Given the description of an element on the screen output the (x, y) to click on. 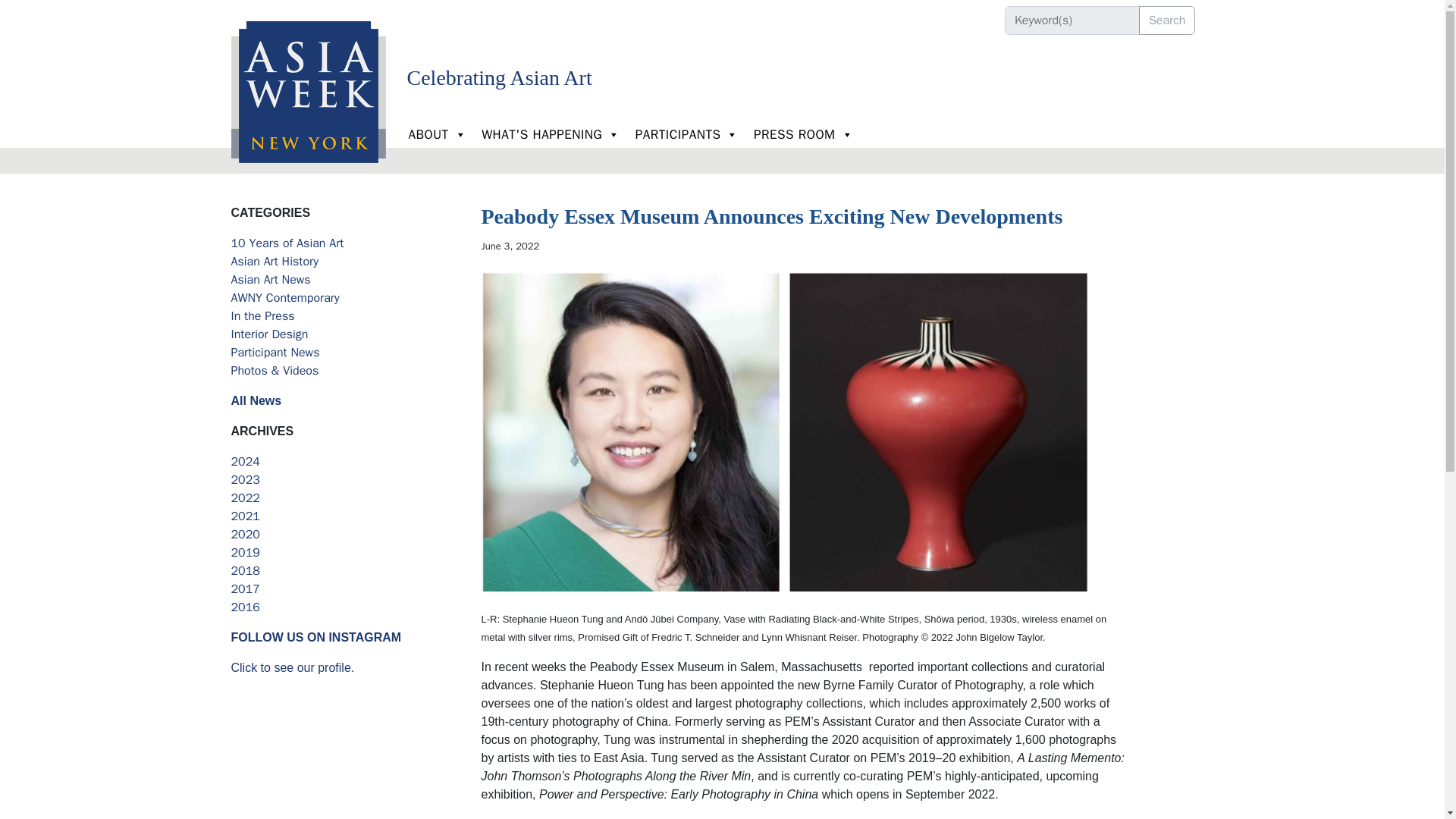
WHAT'S HAPPENING (550, 134)
Asia Week New York (307, 74)
PARTICIPANTS (686, 134)
Search (1166, 20)
ABOUT (437, 134)
PRESS ROOM (802, 134)
Search (1072, 20)
